Given the description of an element on the screen output the (x, y) to click on. 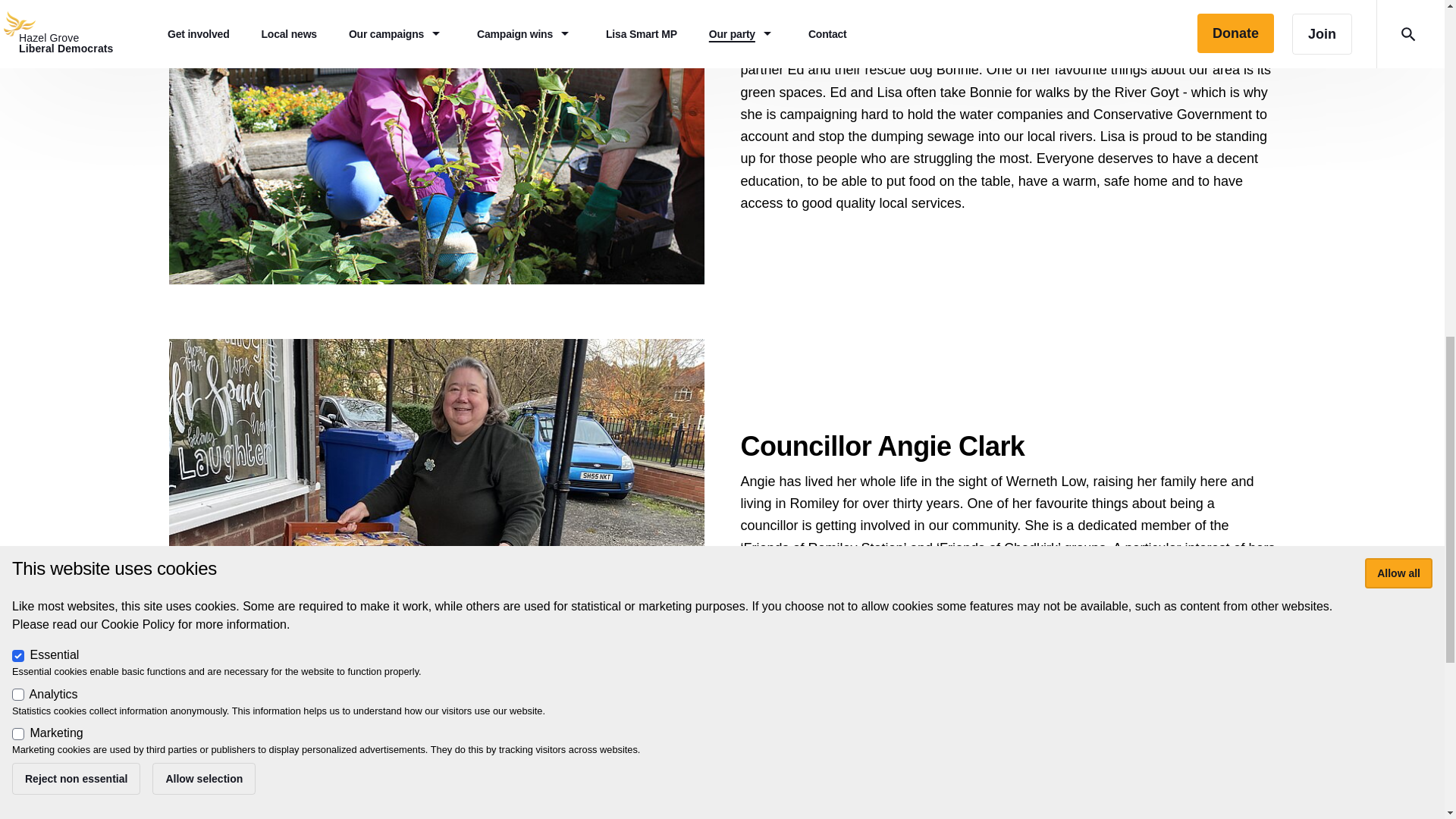
Contact the team! (721, 770)
